Given the description of an element on the screen output the (x, y) to click on. 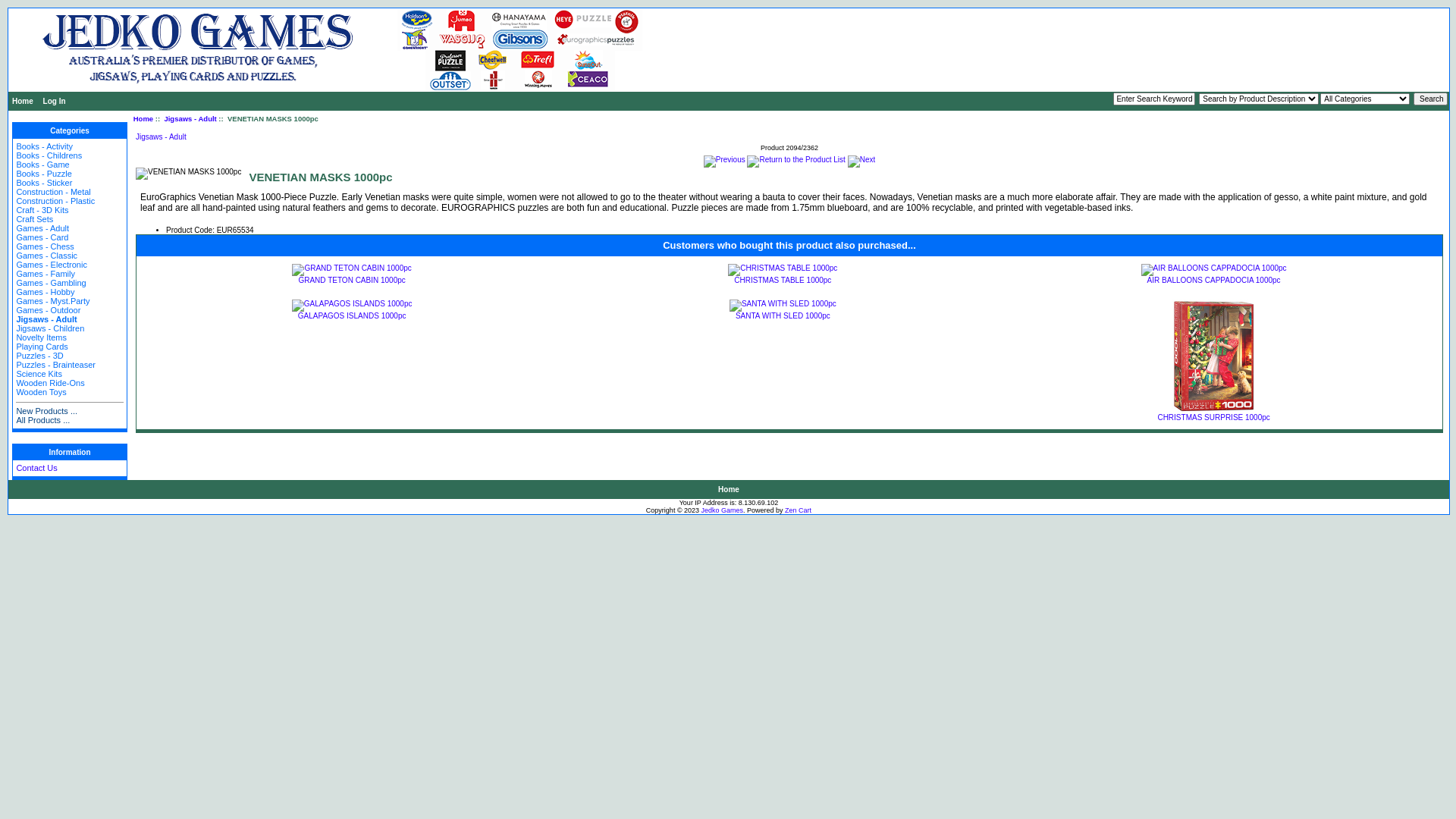
Novelty Items Element type: text (40, 337)
Books - Puzzle Element type: text (43, 173)
Games - Adult Element type: text (42, 227)
Books - Childrens Element type: text (48, 155)
Jigsaws - Adult Element type: text (45, 318)
Games - Classic Element type: text (46, 255)
 VENETIAN MASKS 1000pc  Element type: hover (188, 172)
Jigsaws - Adult Element type: text (189, 118)
Construction - Metal Element type: text (52, 191)
 Previous  Element type: hover (724, 160)
Construction - Plastic Element type: text (54, 200)
 Return to the Product List  Element type: hover (795, 160)
Puzzles - Brainteaser Element type: text (55, 364)
AIR BALLOONS CAPPADOCIA 1000pc Element type: text (1213, 280)
 Powered by Zen Cart :: The Art of E-Commerce  Element type: hover (353, 49)
Home Element type: text (143, 118)
Games - Electronic Element type: text (51, 264)
CHRISTMAS SURPRISE 1000pc Element type: text (1213, 416)
Books - Sticker Element type: text (43, 182)
Games - Family Element type: text (45, 273)
Craft Sets Element type: text (34, 218)
Playing Cards Element type: text (41, 346)
Games - Outdoor Element type: text (47, 309)
 GALAPAGOS ISLANDS 1000pc  Element type: hover (351, 304)
Wooden Toys Element type: text (40, 391)
Puzzles - 3D Element type: text (38, 355)
GALAPAGOS ISLANDS 1000pc Element type: text (352, 314)
Jedko Games Element type: text (722, 510)
Games - Hobby Element type: text (44, 291)
CHRISTMAS TABLE 1000pc Element type: text (782, 280)
Log In Element type: text (54, 101)
New Products ... Element type: text (46, 410)
 GRAND TETON CABIN 1000pc  Element type: hover (351, 269)
Home Element type: text (728, 489)
All Products ... Element type: text (42, 419)
Jigsaws - Children Element type: text (49, 327)
Zen Cart Element type: text (797, 510)
Jigsaws - Adult Element type: text (160, 135)
 Next  Element type: hover (861, 160)
Craft - 3D Kits Element type: text (41, 209)
Games - Chess Element type: text (44, 246)
Games - Myst.Party Element type: text (52, 300)
 AIR BALLOONS CAPPADOCIA 1000pc  Element type: hover (1213, 269)
Games - Card Element type: text (41, 236)
Home Element type: text (22, 101)
 SANTA WITH SLED 1000pc  Element type: hover (782, 304)
Wooden Ride-Ons Element type: text (49, 382)
GRAND TETON CABIN 1000pc Element type: text (351, 280)
SANTA WITH SLED 1000pc Element type: text (782, 314)
Contact Us Element type: text (35, 467)
Search Element type: text (1430, 98)
Books - Activity Element type: text (43, 145)
 CHRISTMAS SURPRISE 1000pc  Element type: hover (1213, 355)
Science Kits Element type: text (38, 373)
 CHRISTMAS TABLE 1000pc  Element type: hover (782, 269)
Books - Game Element type: text (42, 164)
Games - Gambling Element type: text (50, 282)
